Given the description of an element on the screen output the (x, y) to click on. 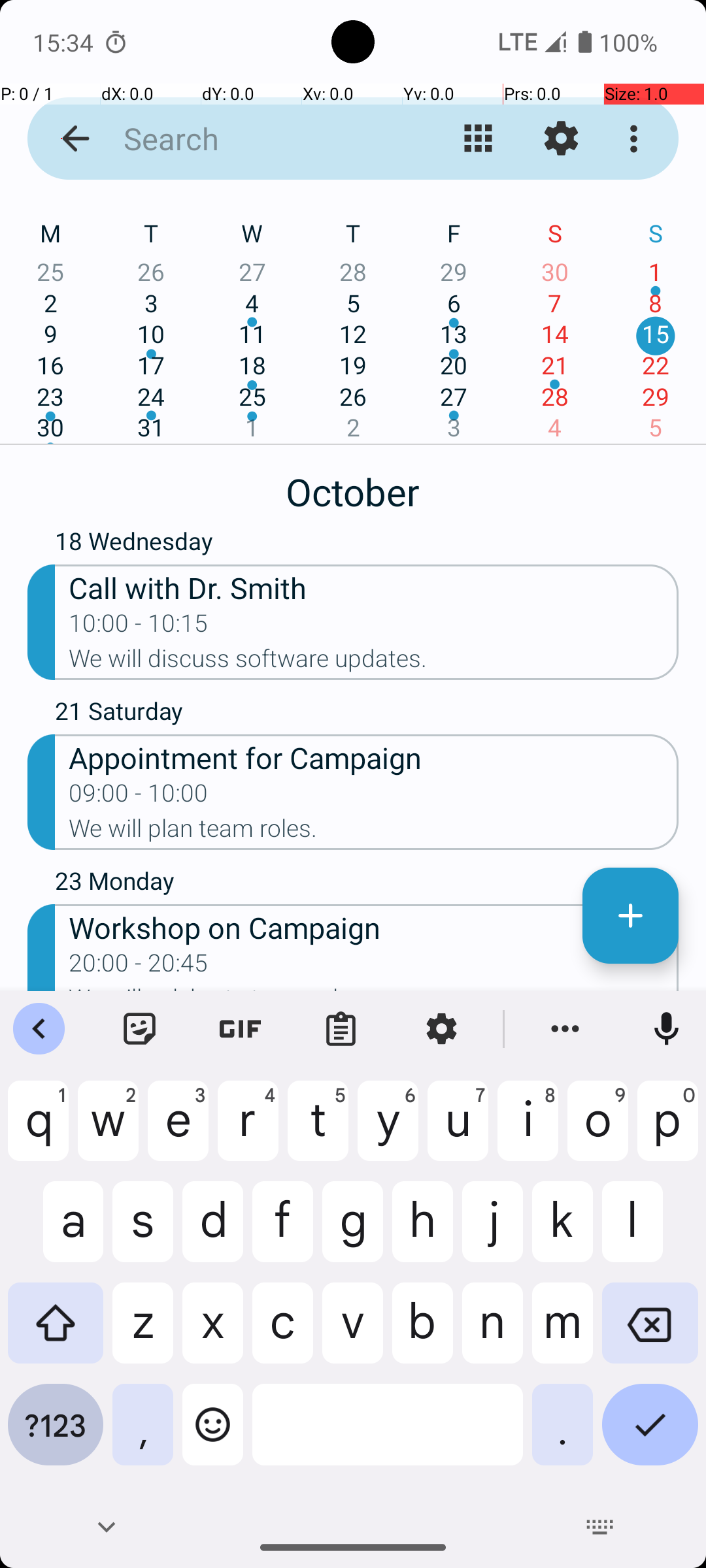
18 Wednesday Element type: android.widget.TextView (366, 543)
21 Saturday Element type: android.widget.TextView (366, 713)
23 Monday Element type: android.widget.TextView (366, 883)
Call with Dr. Smith Element type: android.widget.TextView (373, 586)
10:00 - 10:15 Element type: android.widget.TextView (137, 626)
We will discuss software updates. Element type: android.widget.TextView (373, 662)
Appointment for Campaign Element type: android.widget.TextView (373, 756)
09:00 - 10:00 Element type: android.widget.TextView (137, 796)
We will plan team roles. Element type: android.widget.TextView (373, 831)
20:00 - 20:45 Element type: android.widget.TextView (137, 966)
We will celebrate team roles. Element type: android.widget.TextView (373, 987)
